Given the description of an element on the screen output the (x, y) to click on. 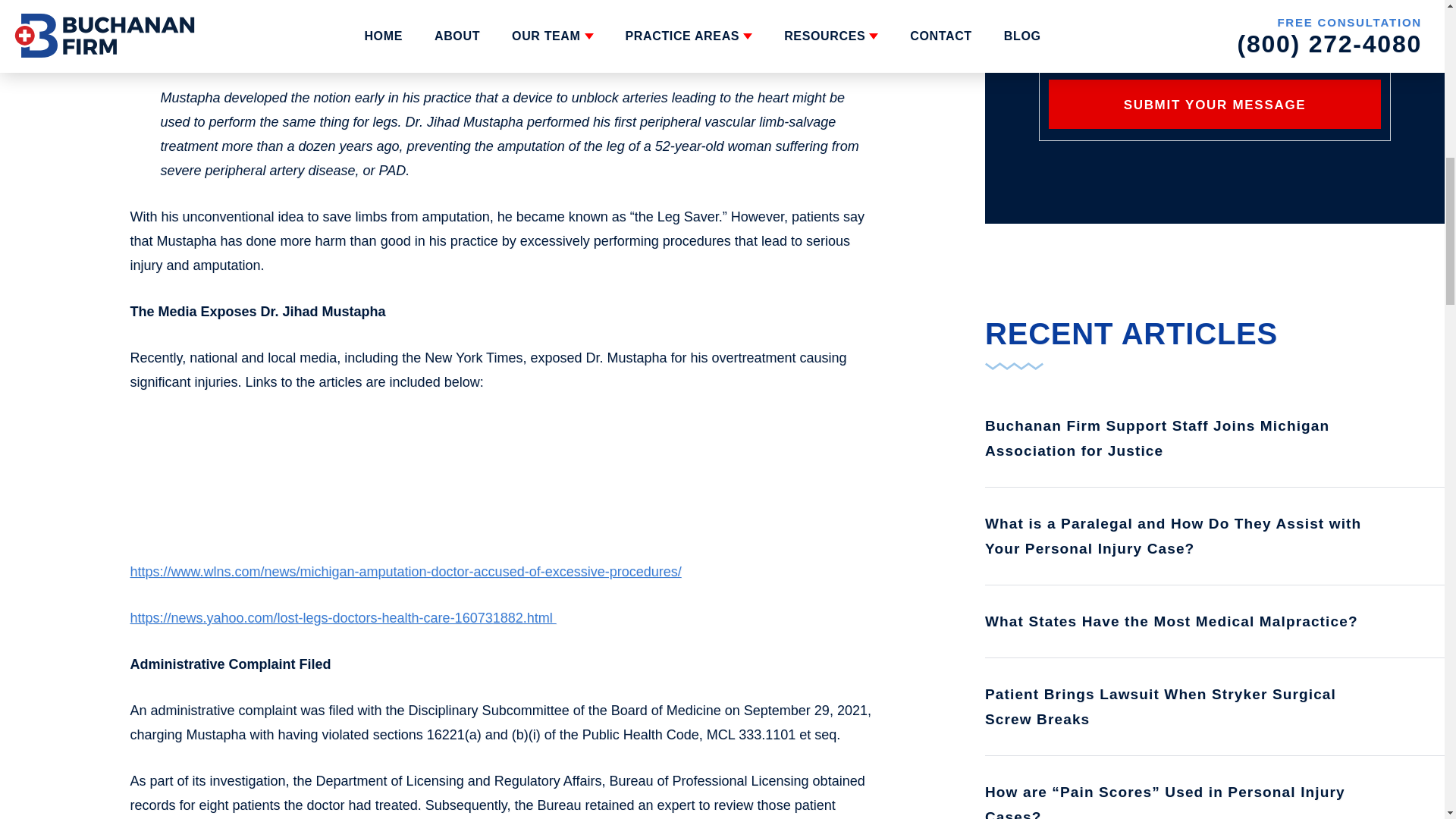
Submit Your Message (1214, 103)
Submit Your Message (1214, 103)
